Given the description of an element on the screen output the (x, y) to click on. 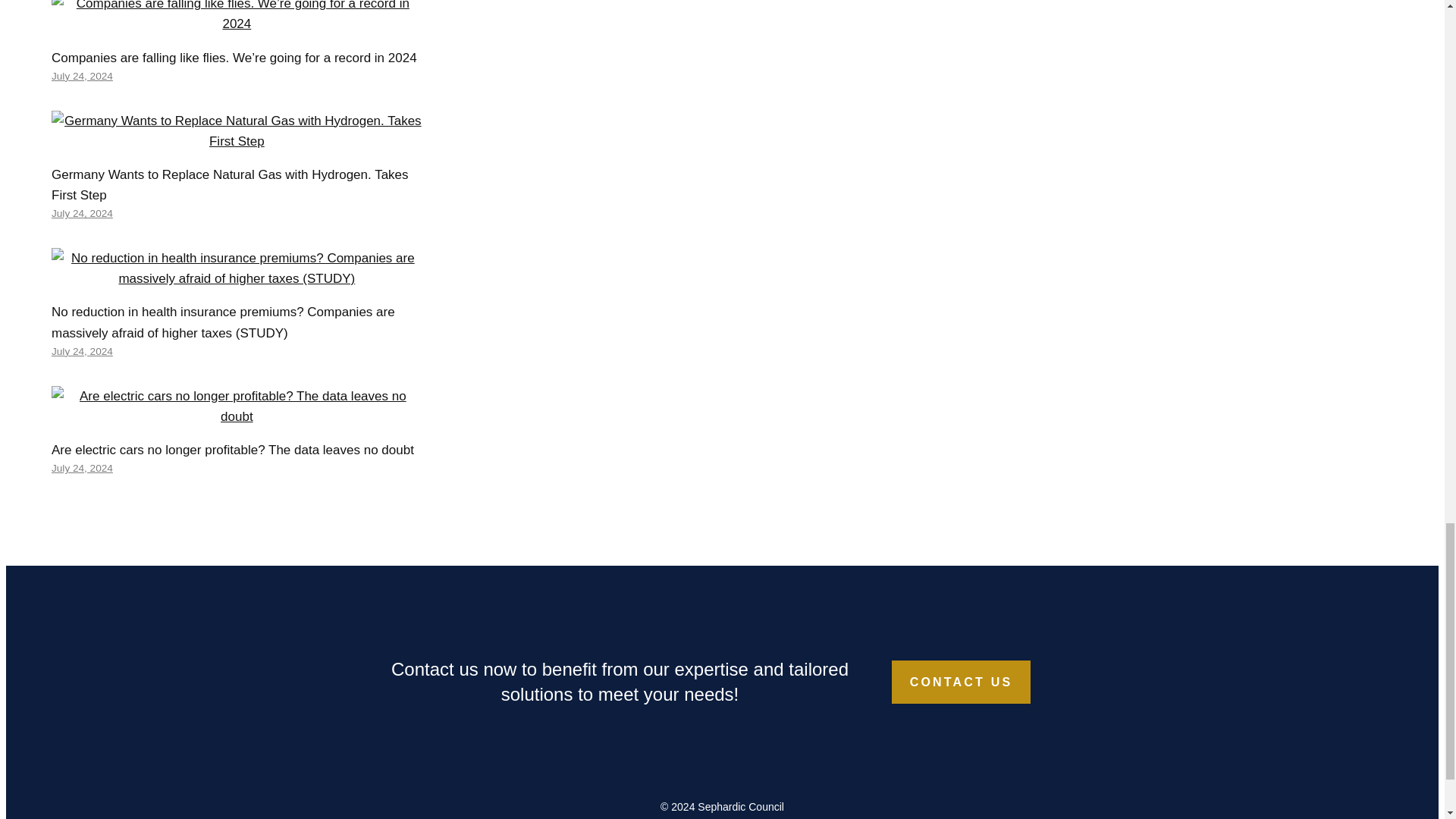
July 24, 2024 (81, 468)
July 24, 2024 (81, 75)
July 24, 2024 (81, 213)
12:39 pm (81, 75)
9:38 am (81, 213)
12:38 am (81, 468)
CONTACT US (960, 682)
July 24, 2024 (81, 351)
6:38 am (81, 351)
